Given the description of an element on the screen output the (x, y) to click on. 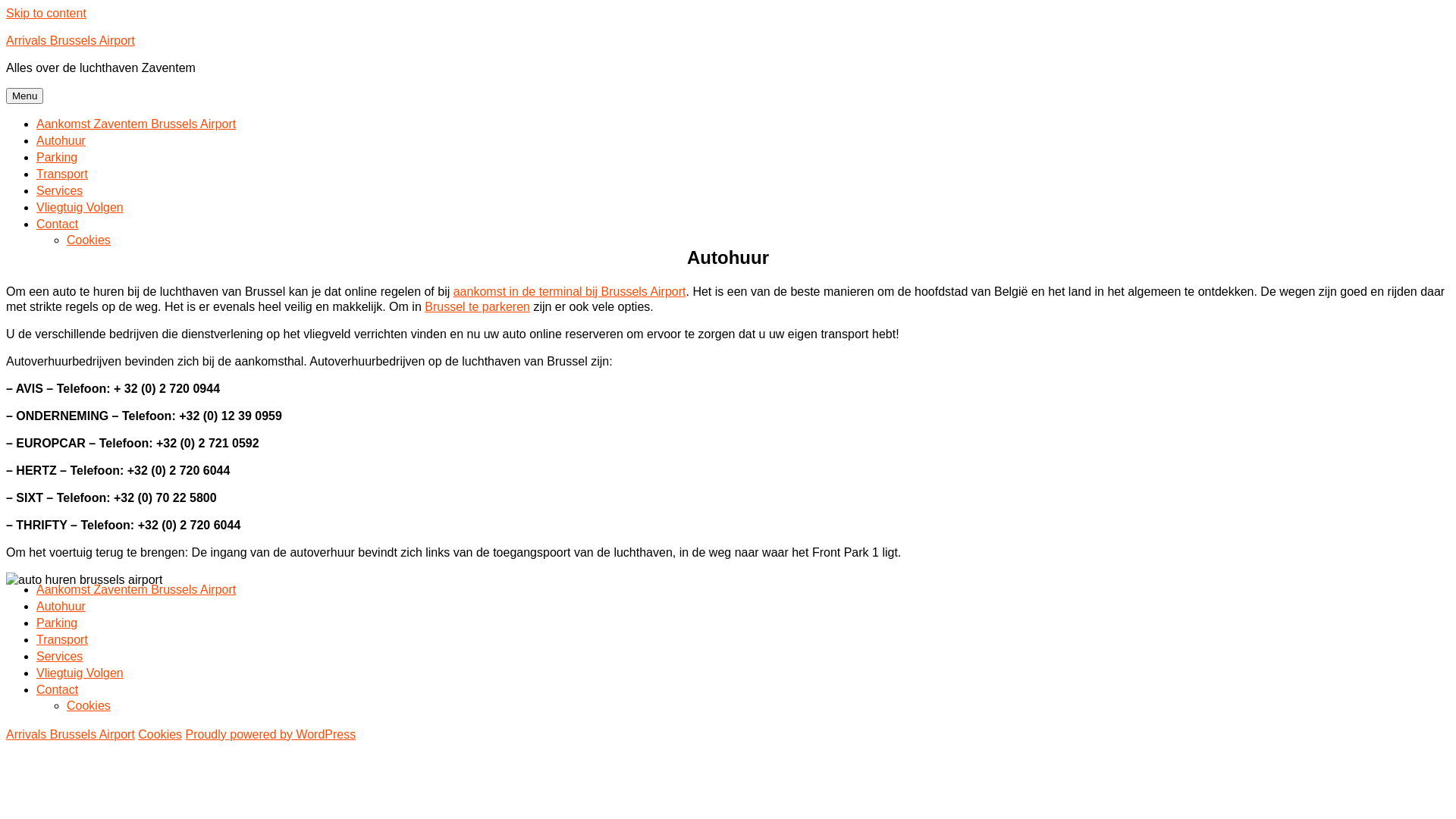
Autohuur Element type: text (60, 140)
Aankomst Zaventem Brussels Airport Element type: text (135, 589)
Proudly powered by WordPress Element type: text (270, 734)
Brussel te parkeren Element type: text (477, 306)
Parking Element type: text (56, 156)
Arrivals Brussels Airport Element type: text (70, 734)
Parking Element type: text (56, 622)
Transport Element type: text (61, 173)
Skip to content Element type: text (46, 12)
Services Element type: text (59, 190)
Vliegtuig Volgen Element type: text (79, 206)
Arrivals Brussels Airport Element type: text (70, 40)
Transport Element type: text (61, 639)
Cookies Element type: text (88, 239)
Cookies Element type: text (160, 734)
Contact Element type: text (57, 223)
Menu Element type: text (24, 95)
Aankomst Zaventem Brussels Airport Element type: text (135, 123)
Vliegtuig Volgen Element type: text (79, 672)
Services Element type: text (59, 655)
aankomst in de terminal bij Brussels Airport Element type: text (569, 291)
Cookies Element type: text (88, 705)
Autohuur Element type: text (60, 605)
Contact Element type: text (57, 689)
